Given the description of an element on the screen output the (x, y) to click on. 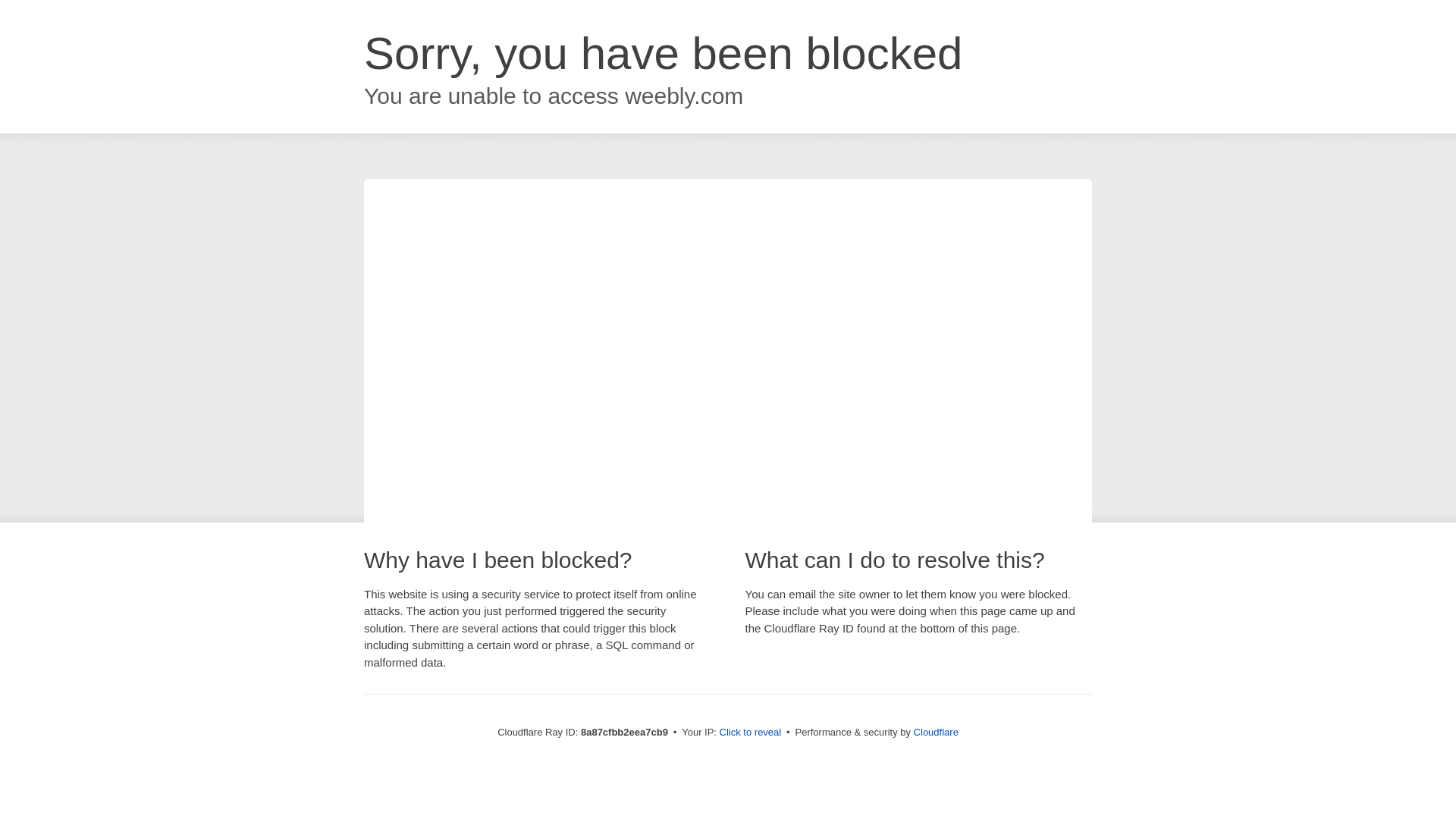
Cloudflare (936, 731)
Click to reveal (750, 732)
